Given the description of an element on the screen output the (x, y) to click on. 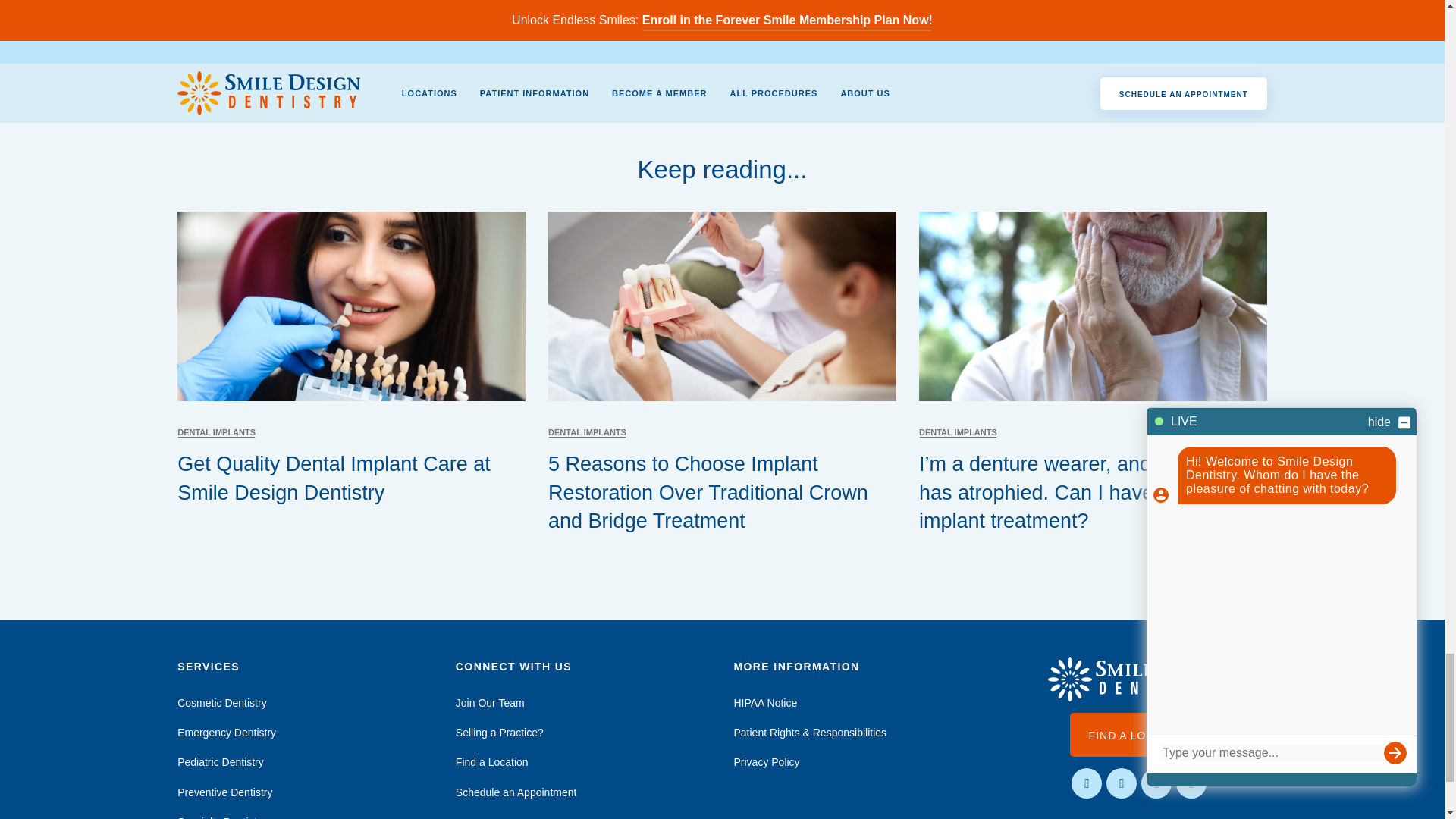
Facebook (1086, 783)
The Smile Design (1139, 679)
LinkedIn (1191, 783)
Instagram (1121, 783)
Twitter (1156, 783)
